Given the description of an element on the screen output the (x, y) to click on. 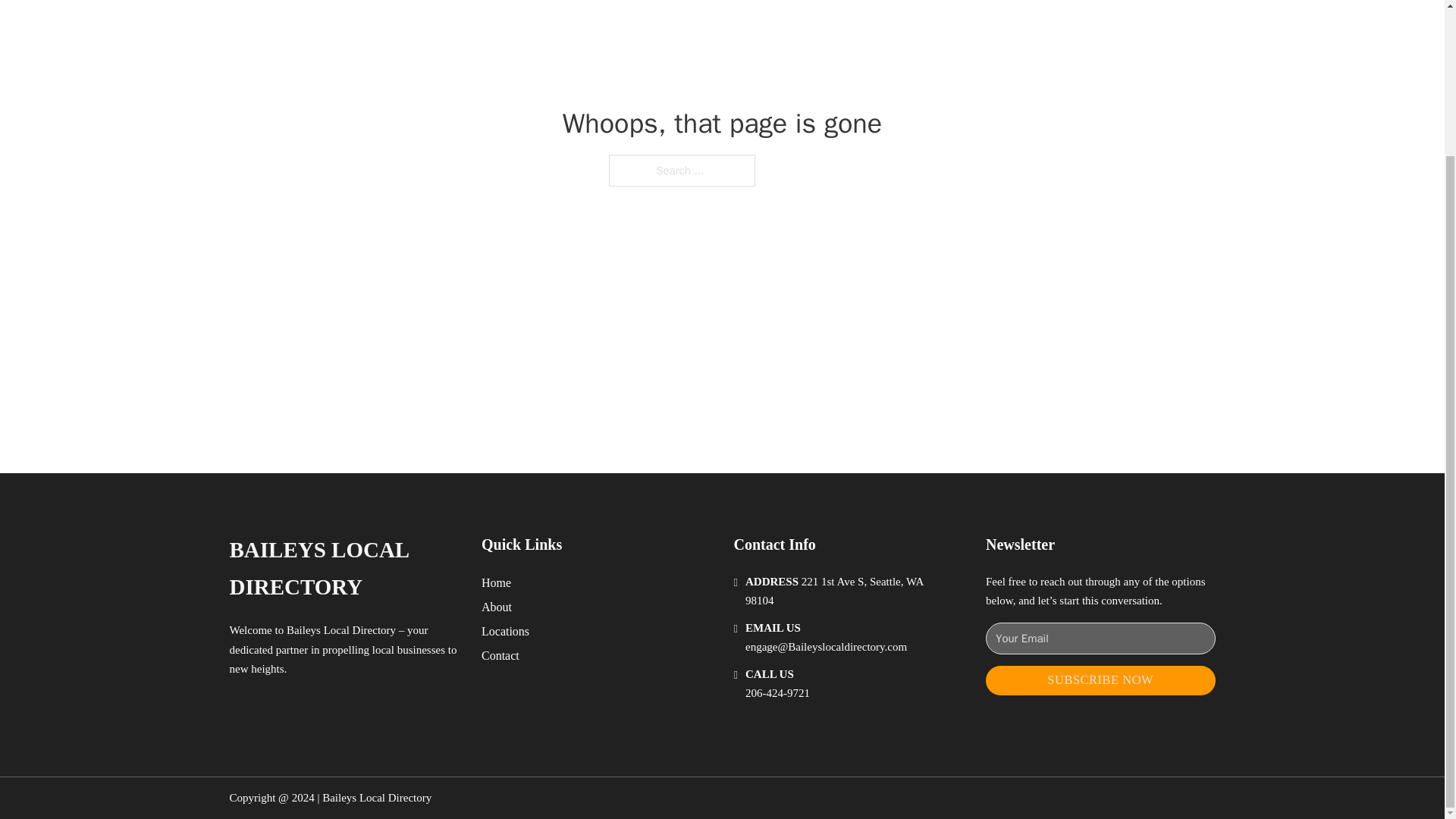
Contact (500, 655)
BAILEYS LOCAL DIRECTORY (343, 568)
Locations (505, 630)
206-424-9721 (777, 693)
Home (496, 582)
SUBSCRIBE NOW (1100, 680)
About (496, 607)
